Given the description of an element on the screen output the (x, y) to click on. 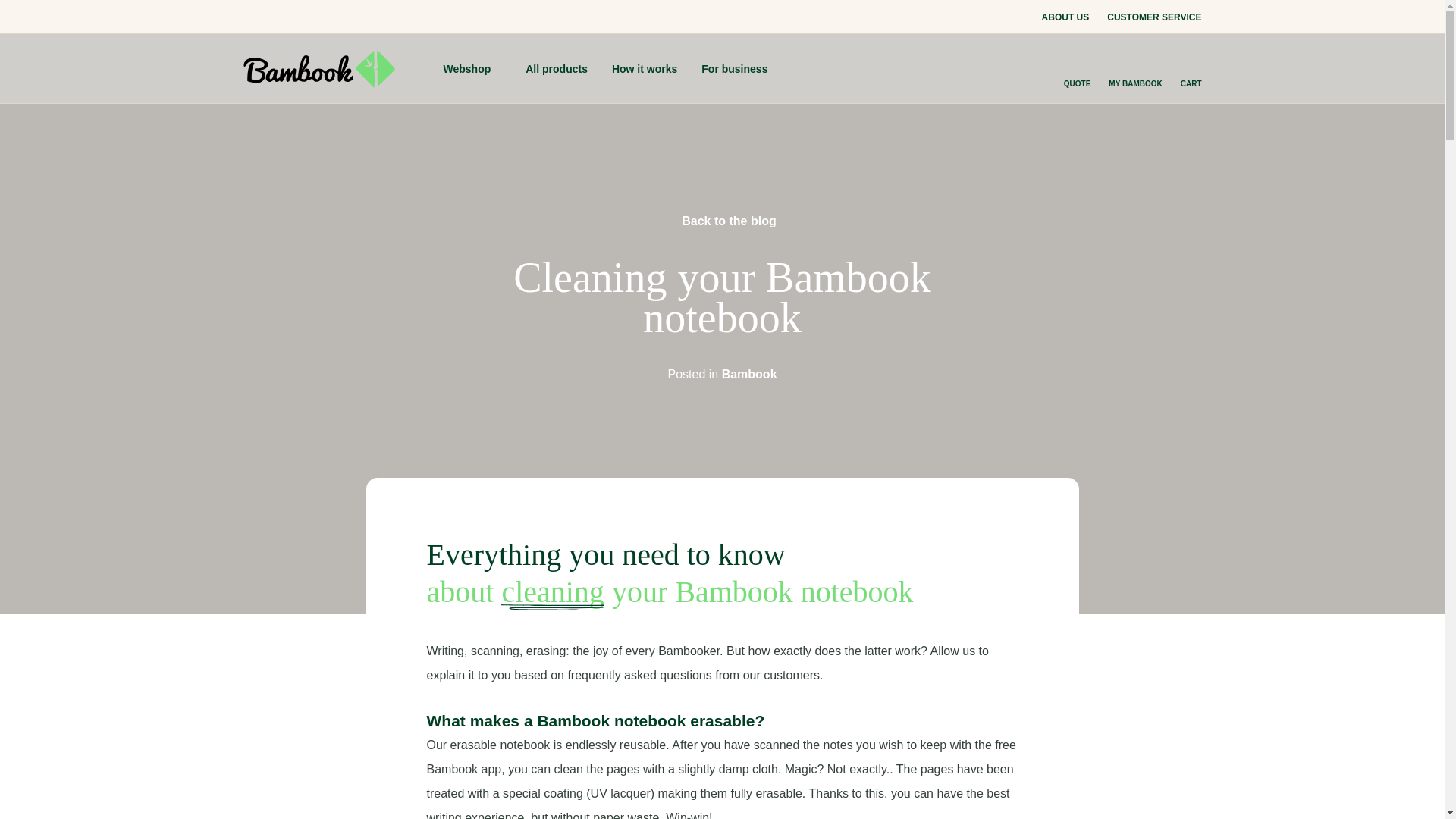
Webshop (471, 68)
CUSTOMER SERVICE (1153, 16)
ABOUT US (1065, 16)
